Given the description of an element on the screen output the (x, y) to click on. 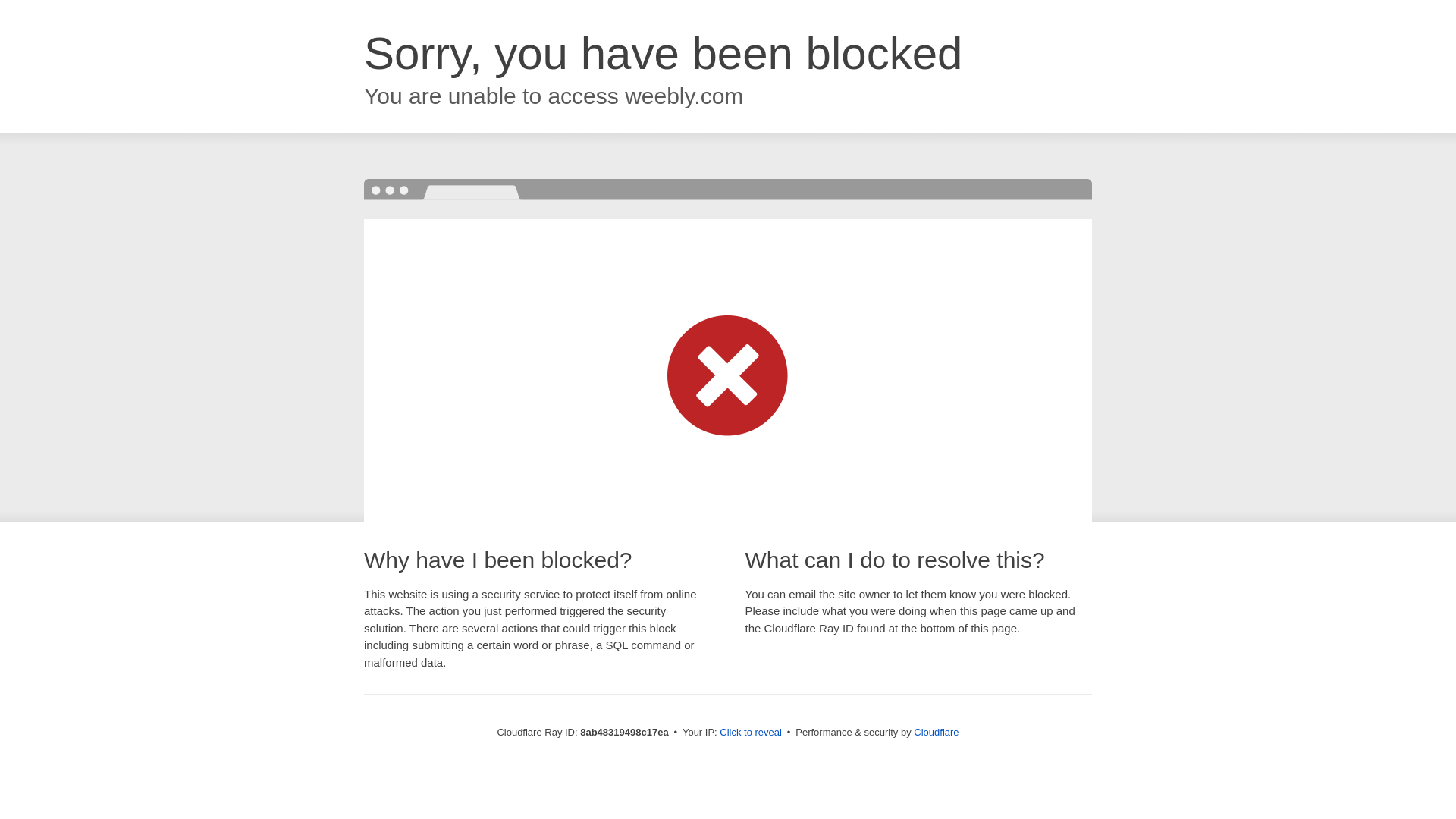
Cloudflare (936, 731)
Click to reveal (750, 732)
